Given the description of an element on the screen output the (x, y) to click on. 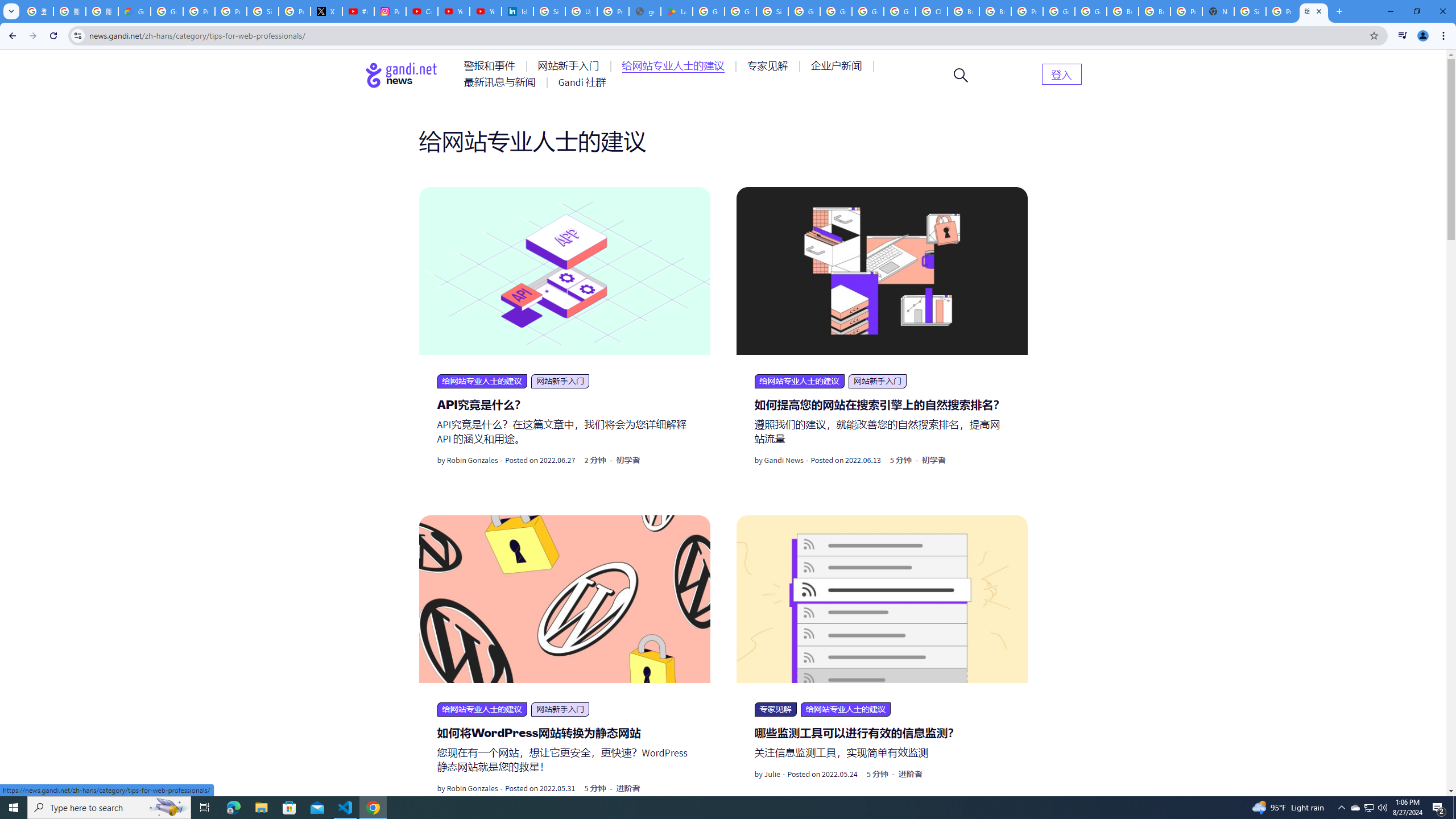
Sign in - Google Accounts (772, 11)
Identity verification via Persona | LinkedIn Help (517, 11)
Control your music, videos, and more (1402, 35)
AutomationID: menu-item-77767 (581, 82)
Browse Chrome as a guest - Computer - Google Chrome Help (995, 11)
